Given the description of an element on the screen output the (x, y) to click on. 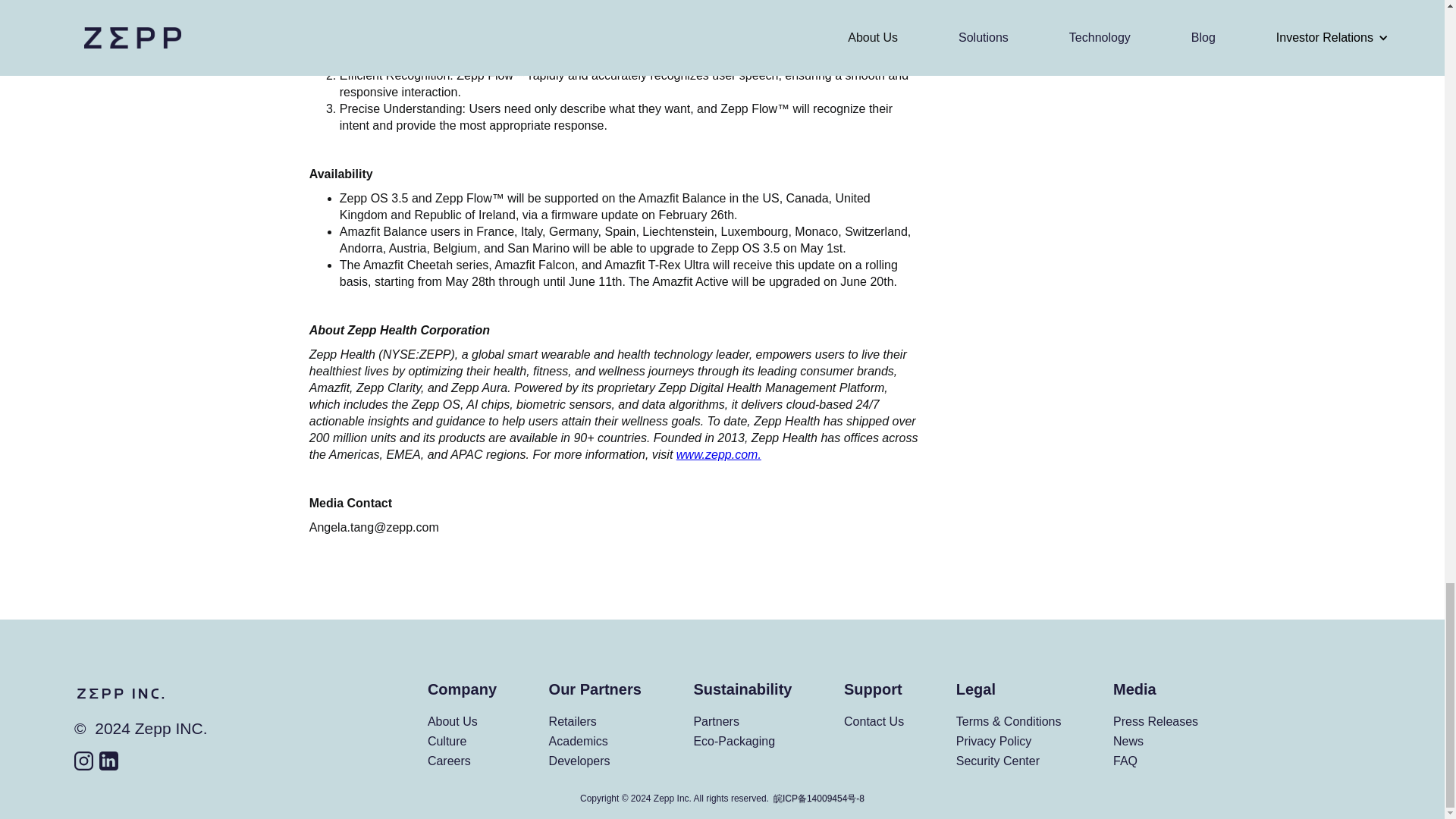
About Us (452, 721)
Culture (447, 741)
www.zepp.com. (719, 454)
Careers (449, 760)
